Given the description of an element on the screen output the (x, y) to click on. 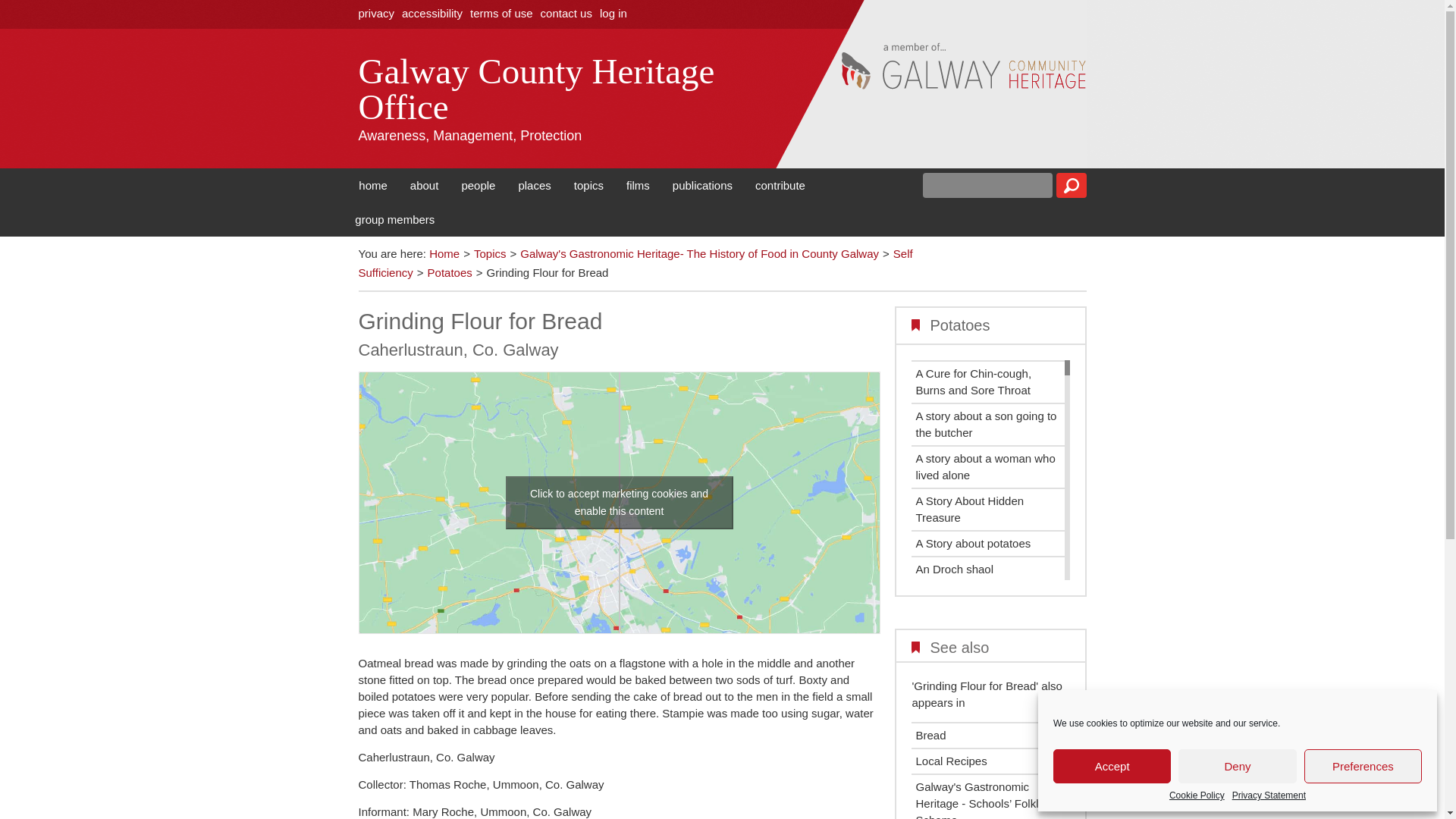
Privacy Statement (1268, 795)
Go (1070, 185)
privacy (376, 12)
group members (394, 219)
Search Galway County Heritage Office (1070, 185)
Galway County Heritage Office (566, 89)
Self Sufficiency (635, 263)
places (534, 184)
accessibility (432, 12)
about (424, 184)
Accept (1111, 765)
Home (444, 253)
films (637, 184)
Go (1070, 185)
